Given the description of an element on the screen output the (x, y) to click on. 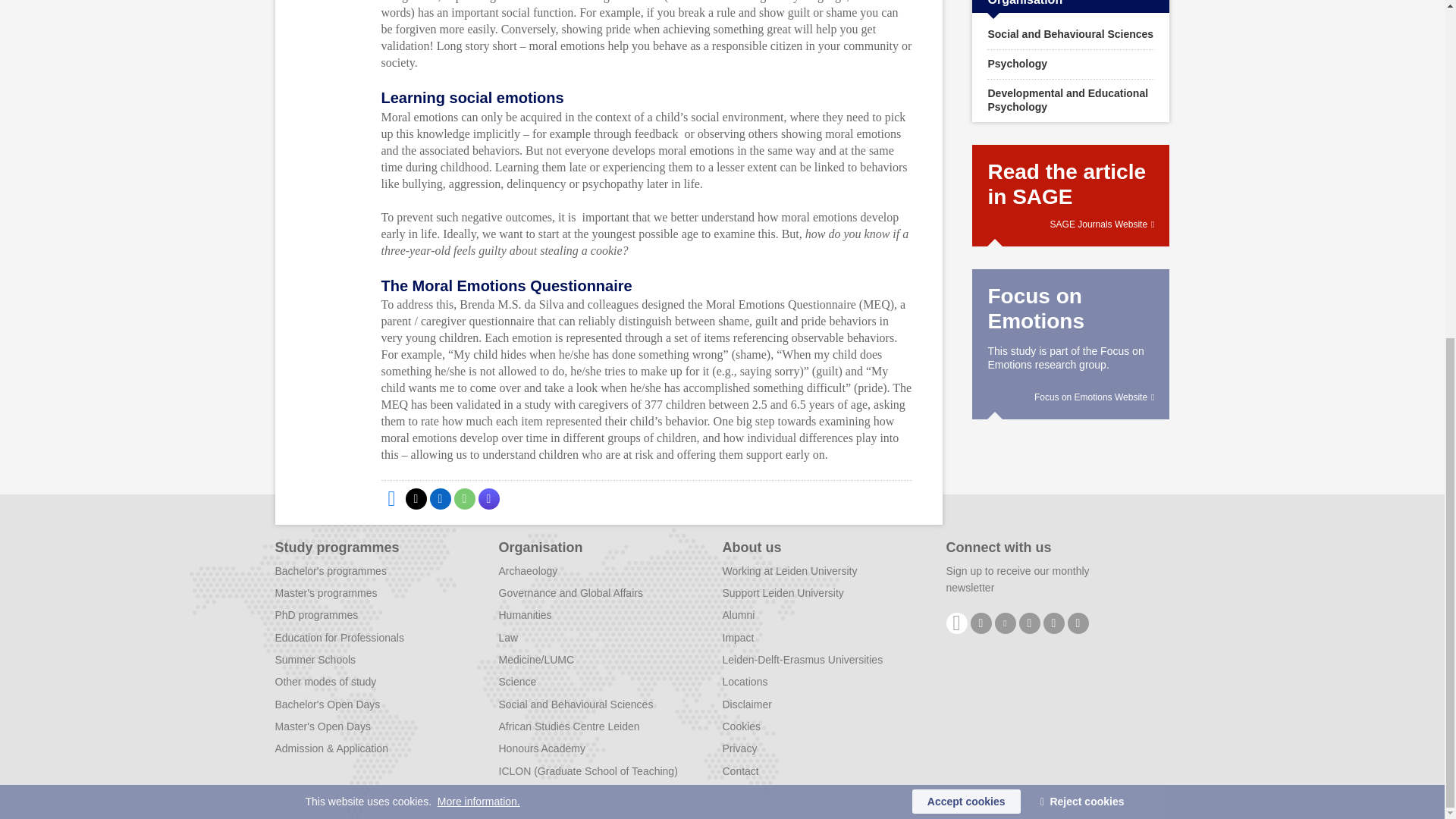
Share on X (415, 498)
Share by Mastodon (488, 498)
Share on LinkedIn (439, 498)
Share by WhatsApp (463, 498)
Share on Facebook (390, 498)
